Given the description of an element on the screen output the (x, y) to click on. 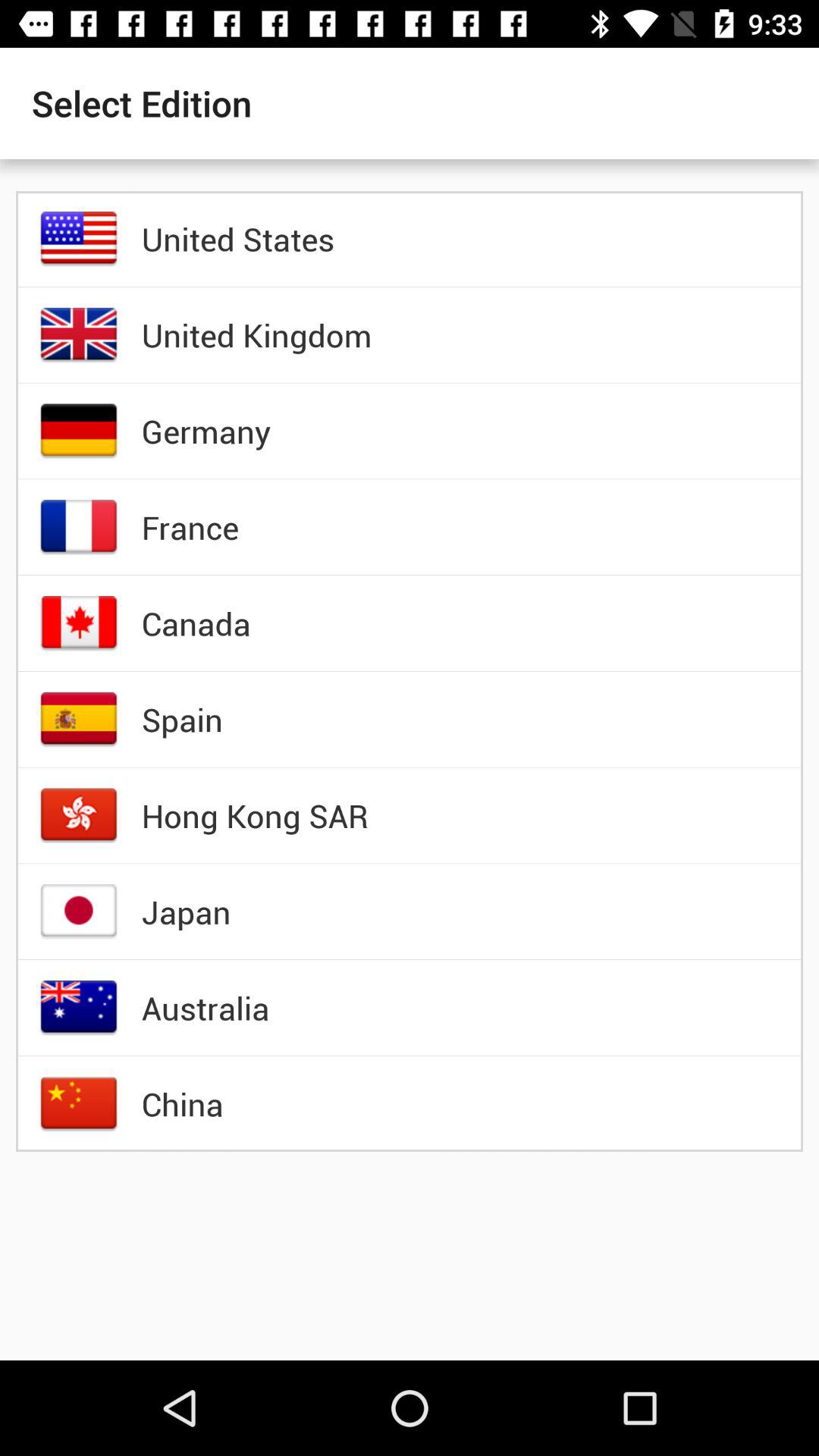
turn on icon below the spain (254, 815)
